Given the description of an element on the screen output the (x, y) to click on. 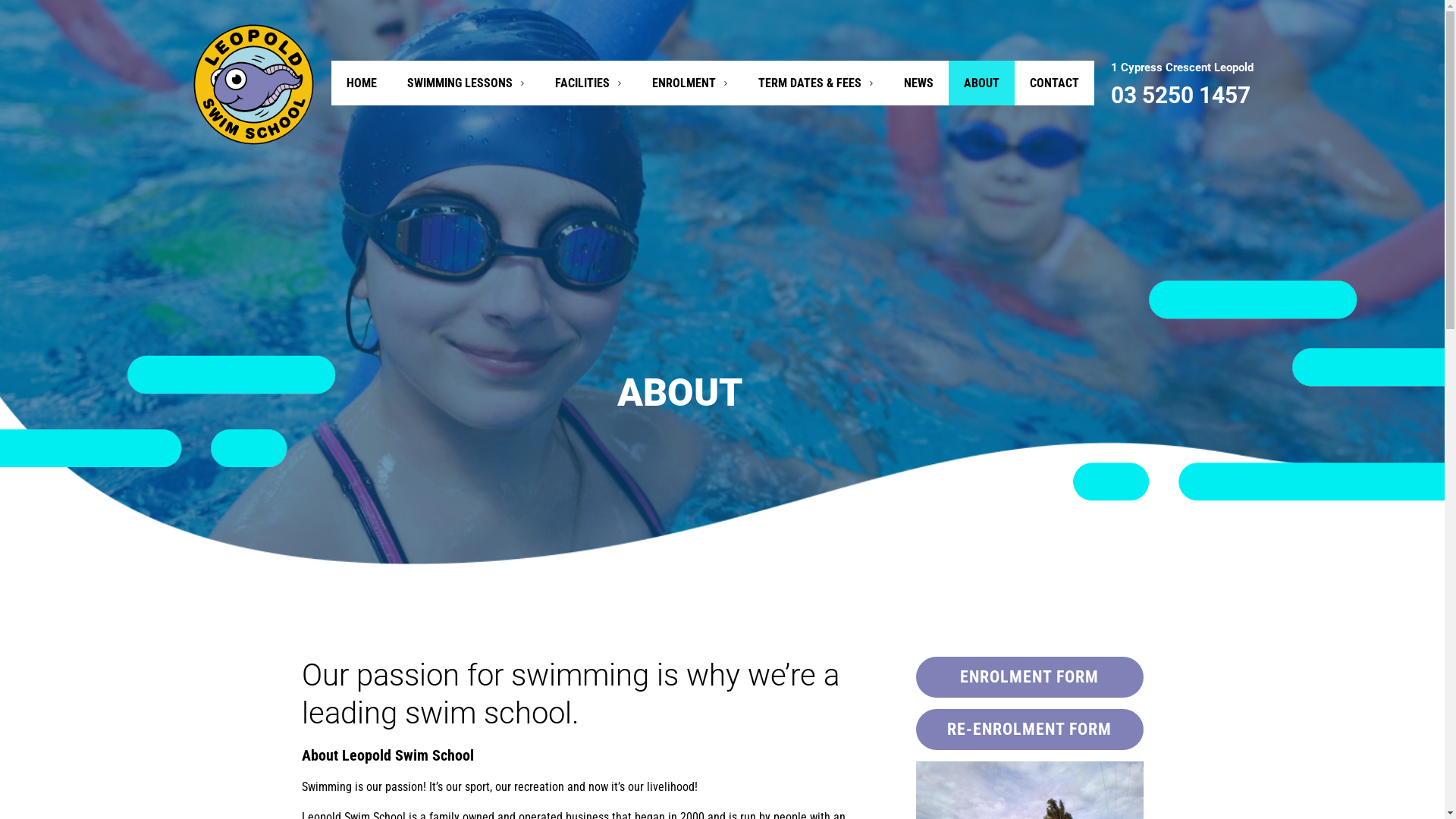
ABOUT Element type: text (981, 82)
RE-ENROLMENT FORM Element type: text (1029, 729)
CONTACT Element type: text (1054, 82)
HOME Element type: text (361, 82)
NEWS Element type: text (918, 82)
TERM DATES & FEES Element type: text (815, 82)
ENROLMENT Element type: text (690, 82)
ENROLMENT FORM Element type: text (1029, 676)
SWIMMING LESSONS Element type: text (465, 82)
FACILITIES Element type: text (588, 82)
